Given the description of an element on the screen output the (x, y) to click on. 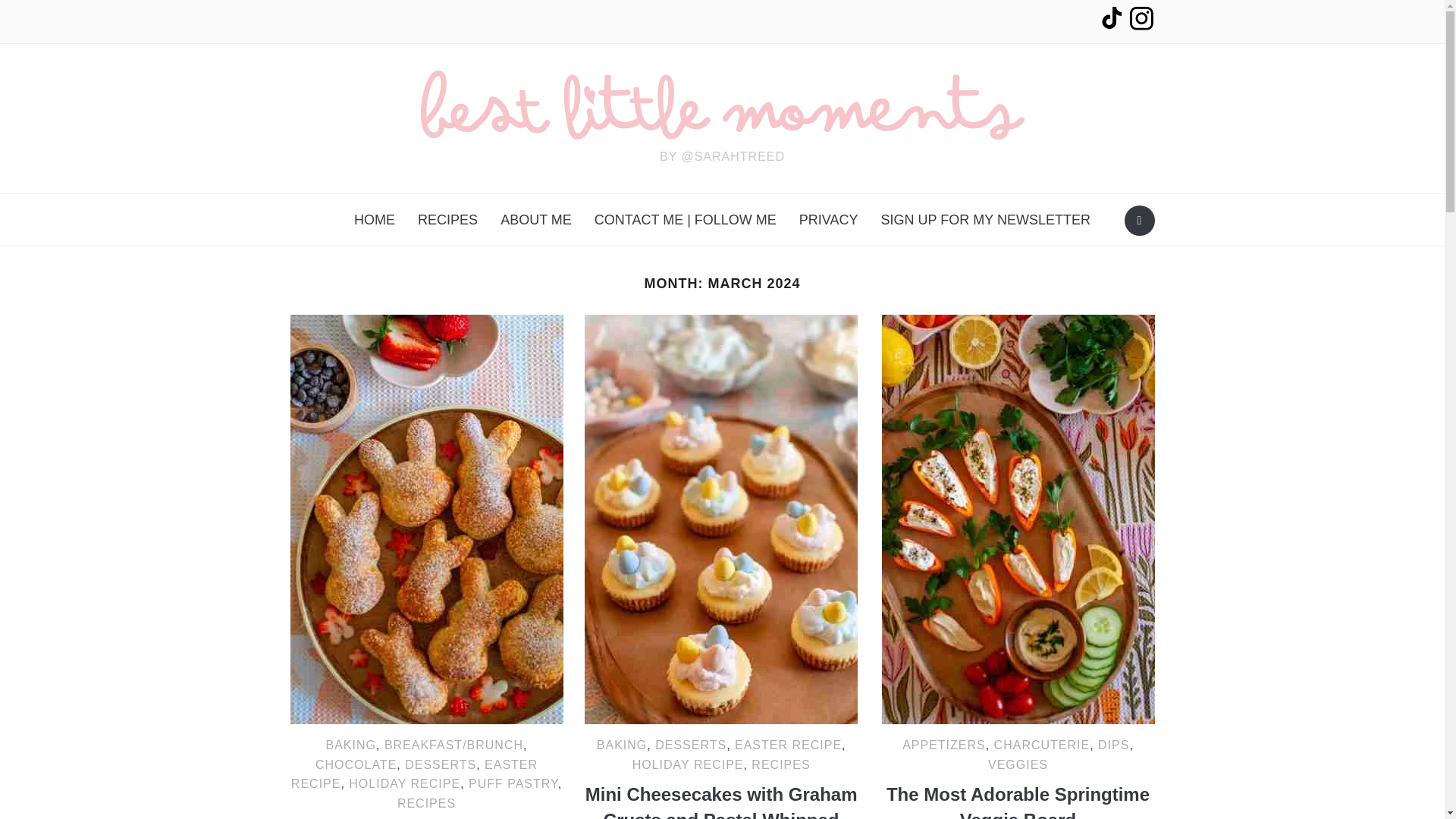
BAKING (621, 744)
BAKING (350, 744)
HOLIDAY RECIPE (404, 783)
Search (1139, 220)
Mini Cheesecakes with Graham Crusts and Pastel Whipped Cream (721, 517)
PUFF PASTRY (512, 783)
EASTER RECIPE (788, 744)
EASTER RECIPE (414, 774)
The Most Adorable Springtime Veggie Board (1017, 517)
DESSERTS (690, 744)
DESSERTS (440, 764)
CHOCOLATE (355, 764)
ABOUT ME (536, 220)
HOME (374, 220)
RECIPES (426, 802)
